Given the description of an element on the screen output the (x, y) to click on. 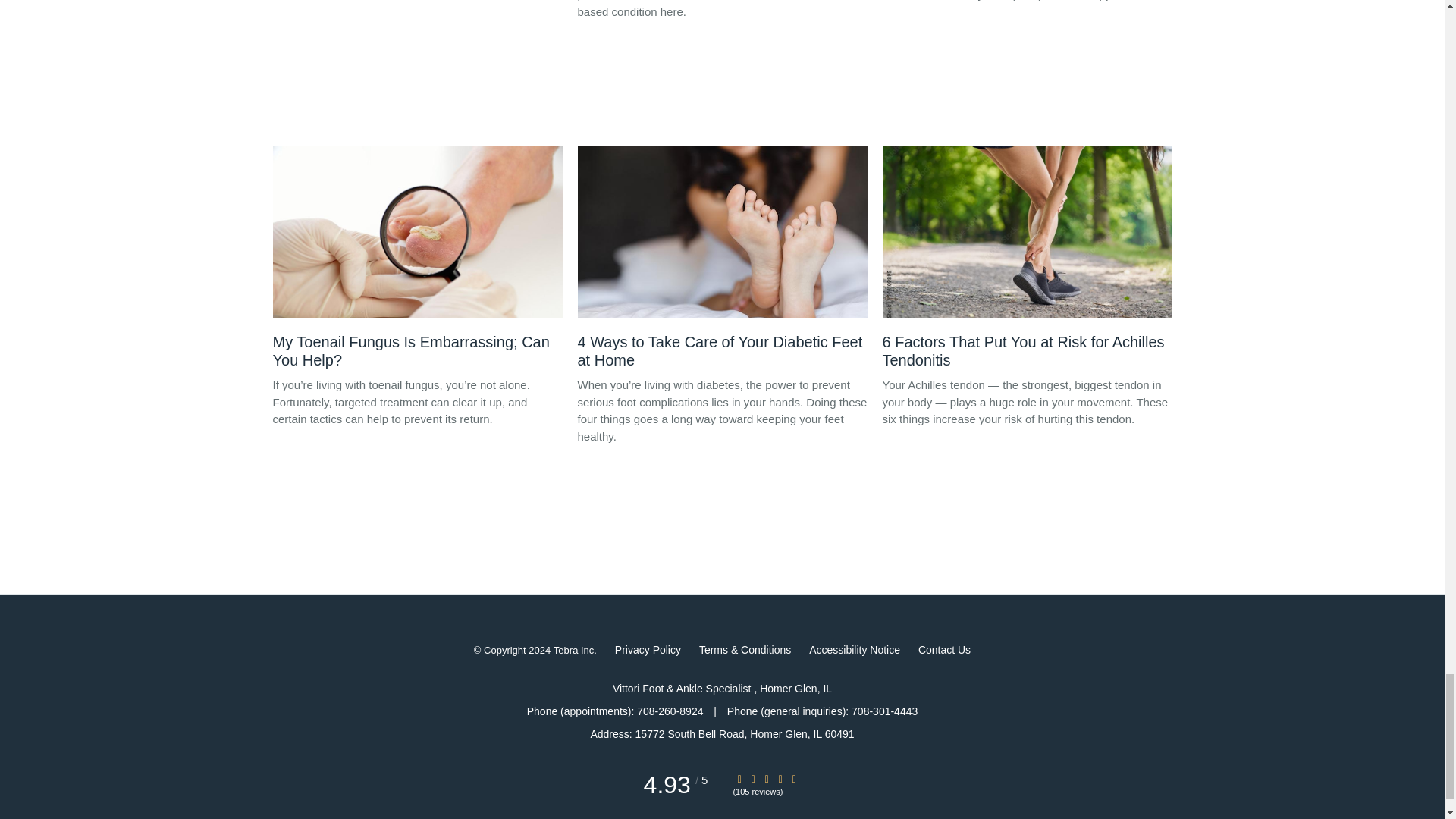
Star Rating (794, 778)
Star Rating (753, 778)
Star Rating (766, 778)
Star Rating (738, 778)
Star Rating (780, 778)
